Given the description of an element on the screen output the (x, y) to click on. 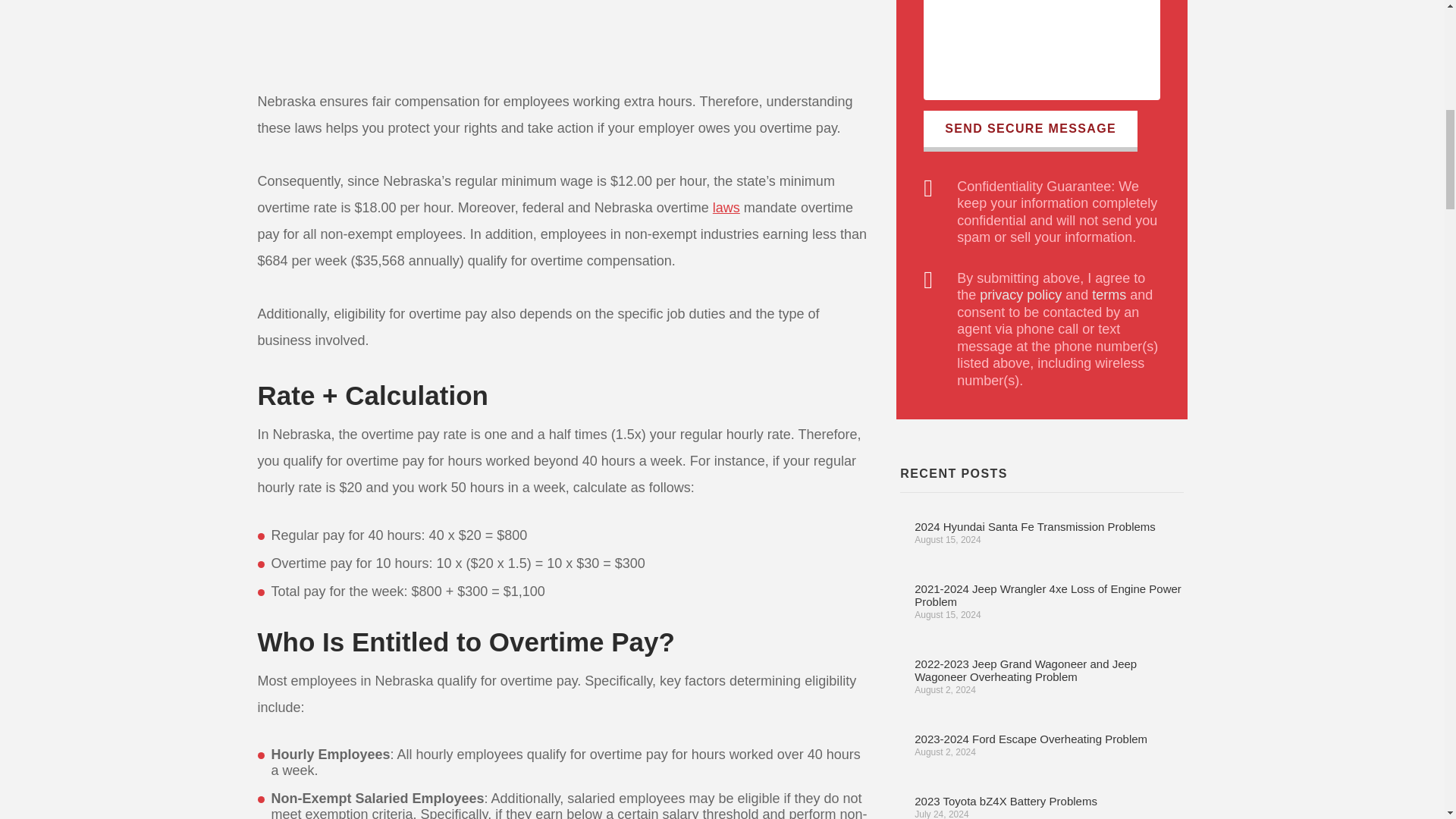
2021-2024 Jeep Wrangler 4xe Loss of Engine Power Problem (1047, 595)
SEND SECURE MESSAGE (1030, 130)
terms (1108, 294)
privacy policy (1020, 294)
laws (726, 207)
SEND SECURE MESSAGE (1030, 130)
2023 Toyota bZ4X Battery Problems (1005, 800)
2024 Hyundai Santa Fe Transmission Problems (1035, 526)
2023-2024 Ford Escape Overheating Problem (1030, 738)
